Given the description of an element on the screen output the (x, y) to click on. 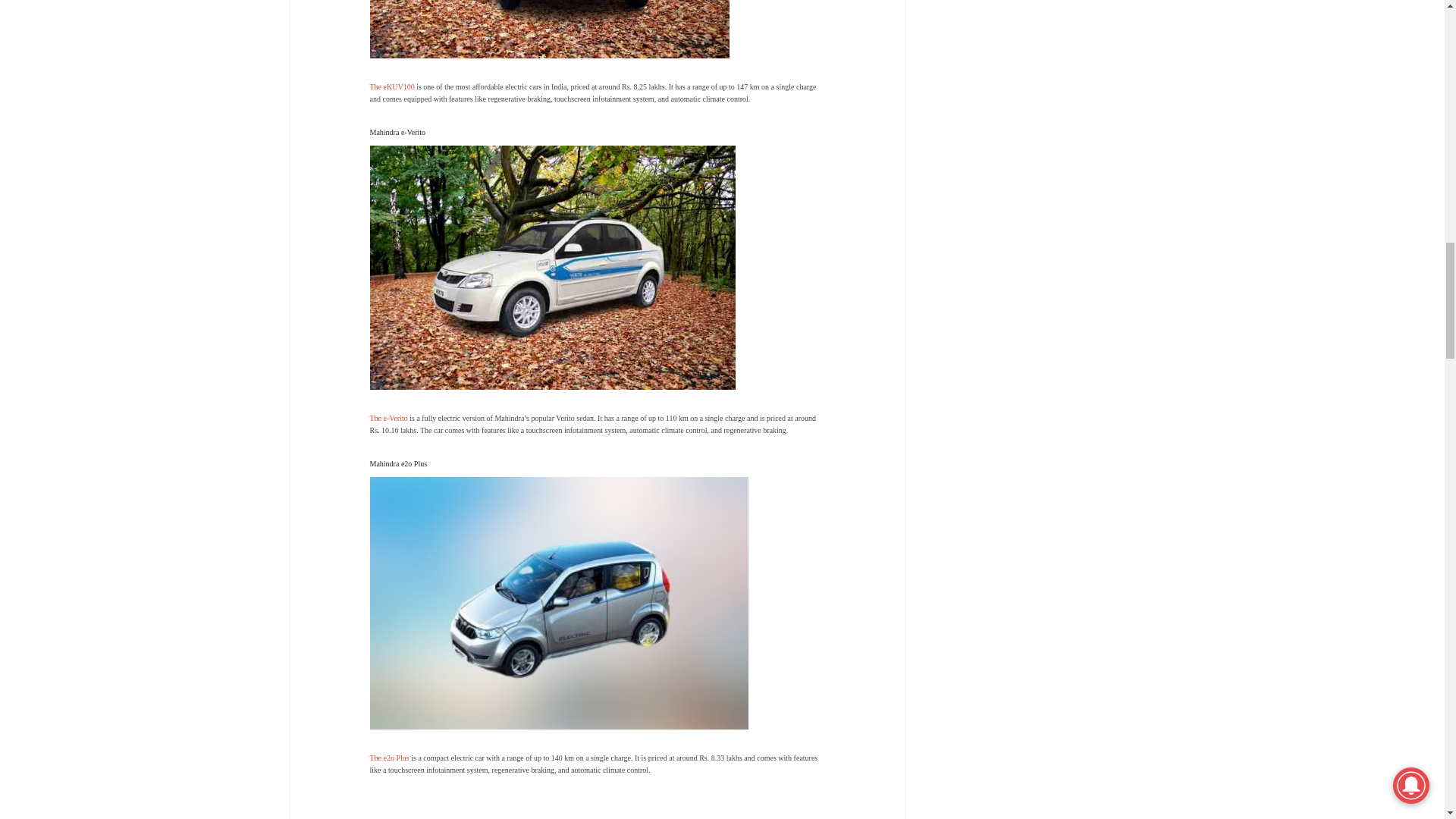
The e2o Plus (390, 757)
The eKUV100 (391, 86)
The e-Verito (389, 418)
